Given the description of an element on the screen output the (x, y) to click on. 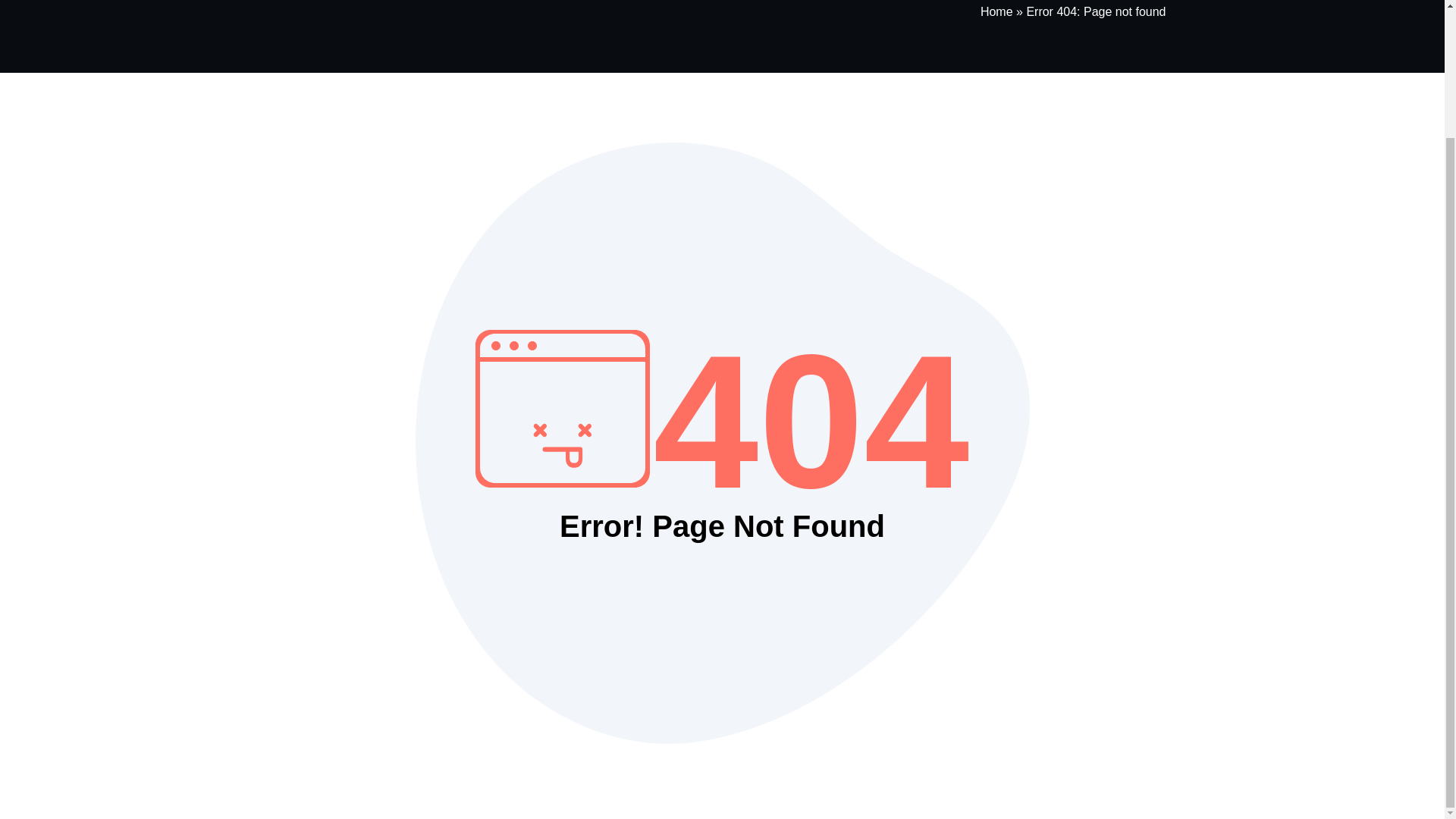
Home (996, 11)
